Given the description of an element on the screen output the (x, y) to click on. 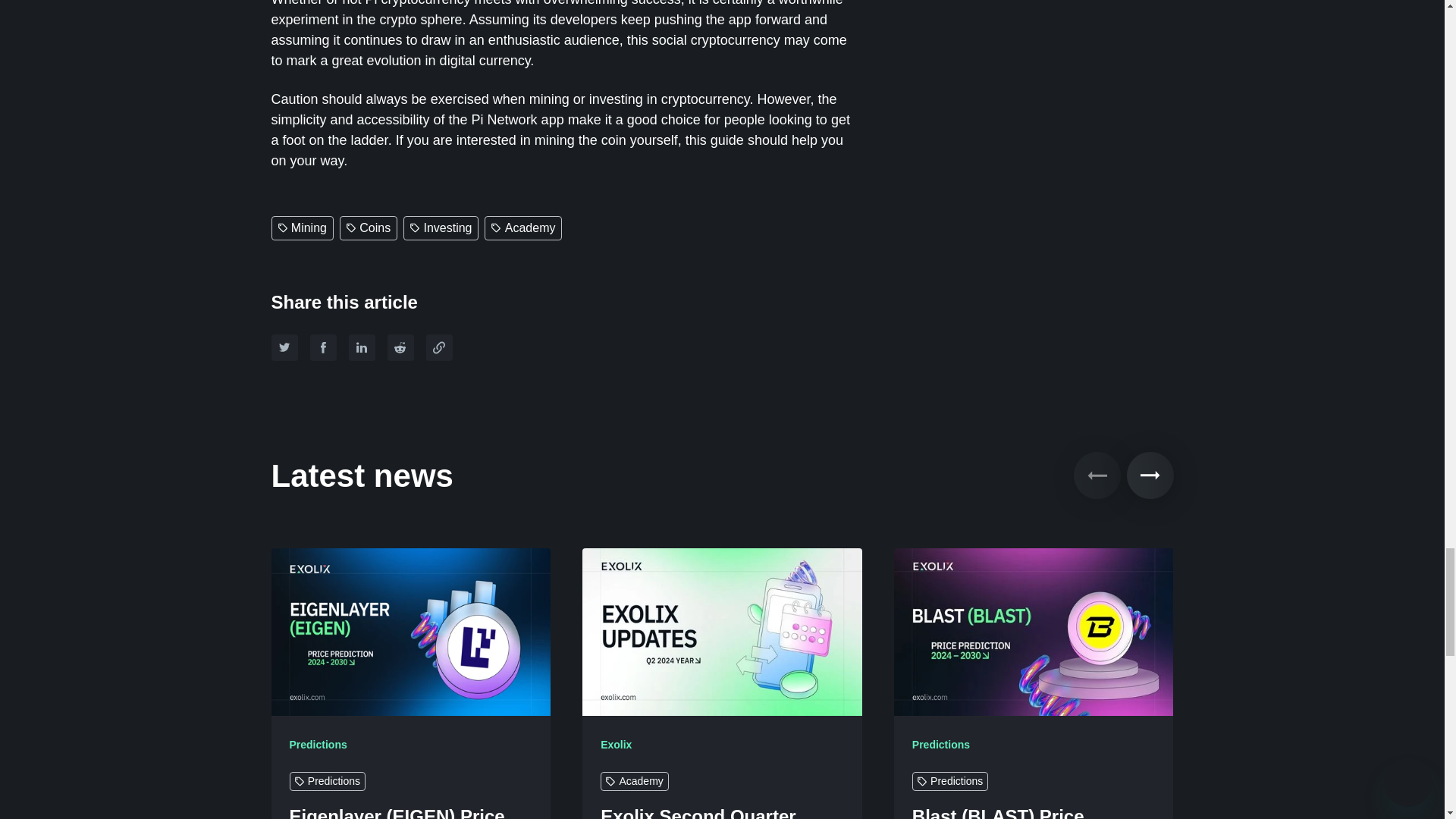
Share on Facebook (322, 347)
Share on Twitter (284, 347)
Share on Linkedin (362, 347)
Share on Reddit (400, 347)
